Given the description of an element on the screen output the (x, y) to click on. 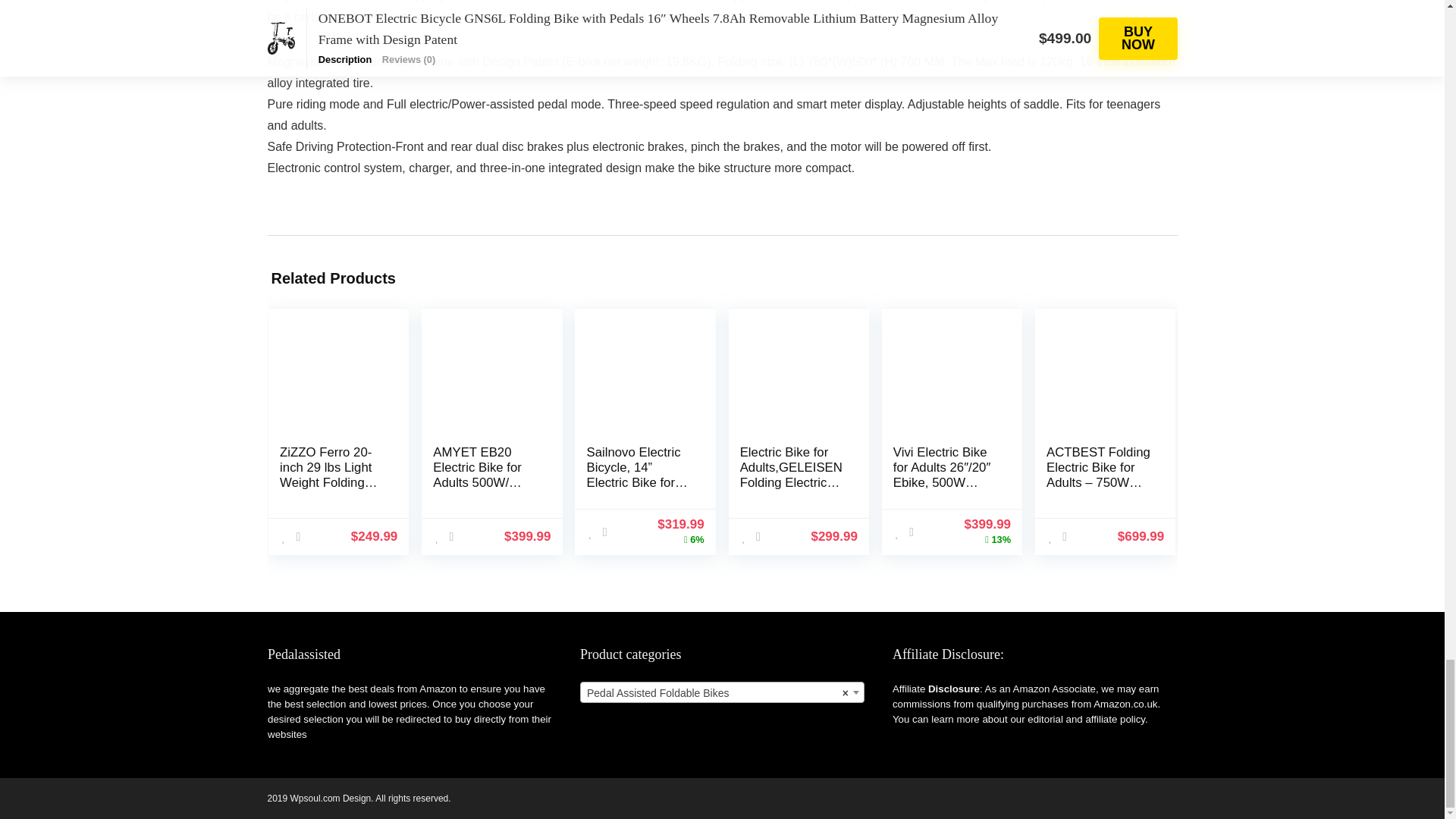
Pedal Assisted Foldable Bikes (721, 692)
